Given the description of an element on the screen output the (x, y) to click on. 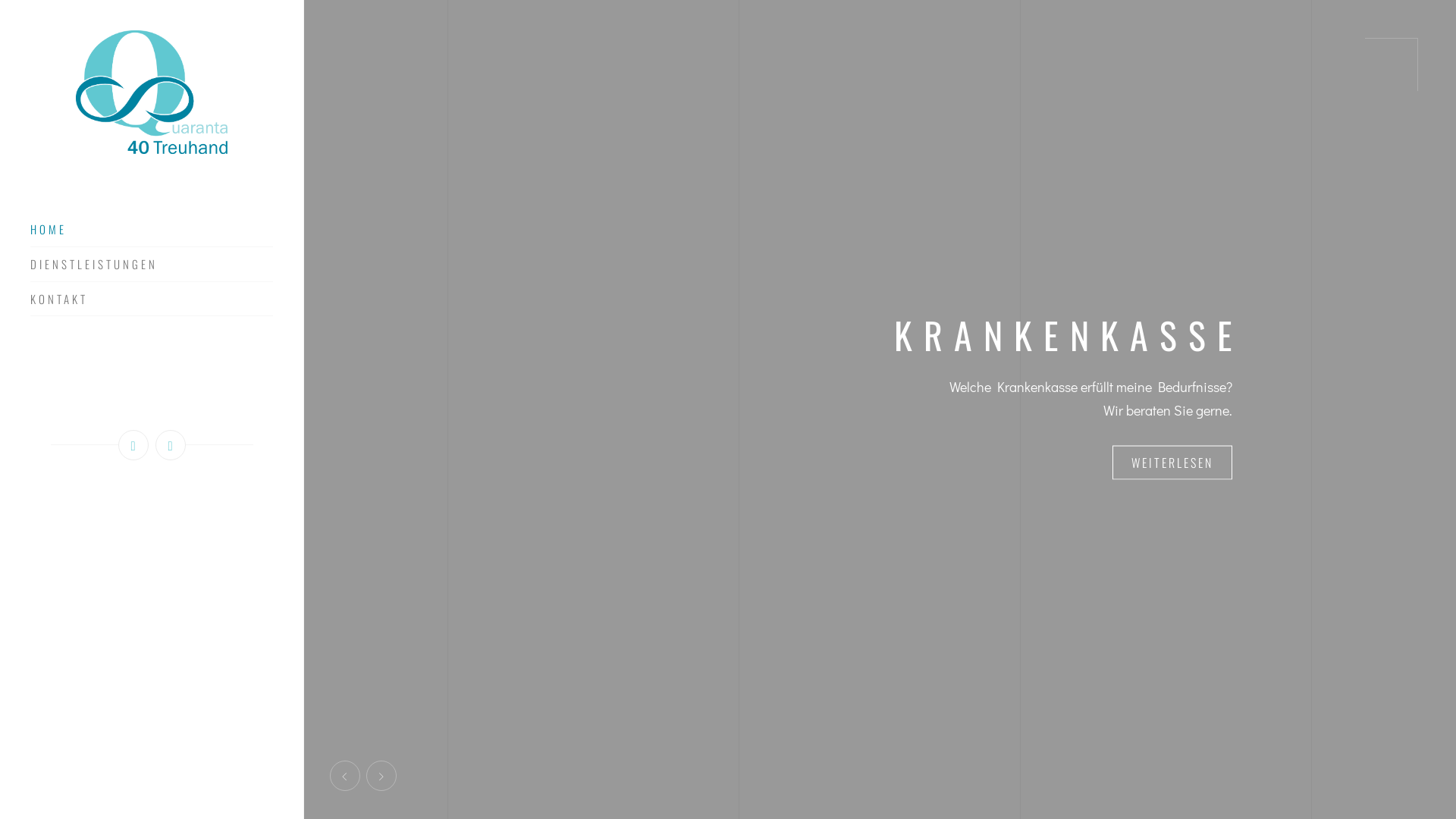
HOME Element type: text (151, 234)
KONTAKT Element type: text (151, 303)
DIENSTLEISTUNGEN Element type: text (151, 269)
WEITERLESEN Element type: text (1172, 450)
